Given the description of an element on the screen output the (x, y) to click on. 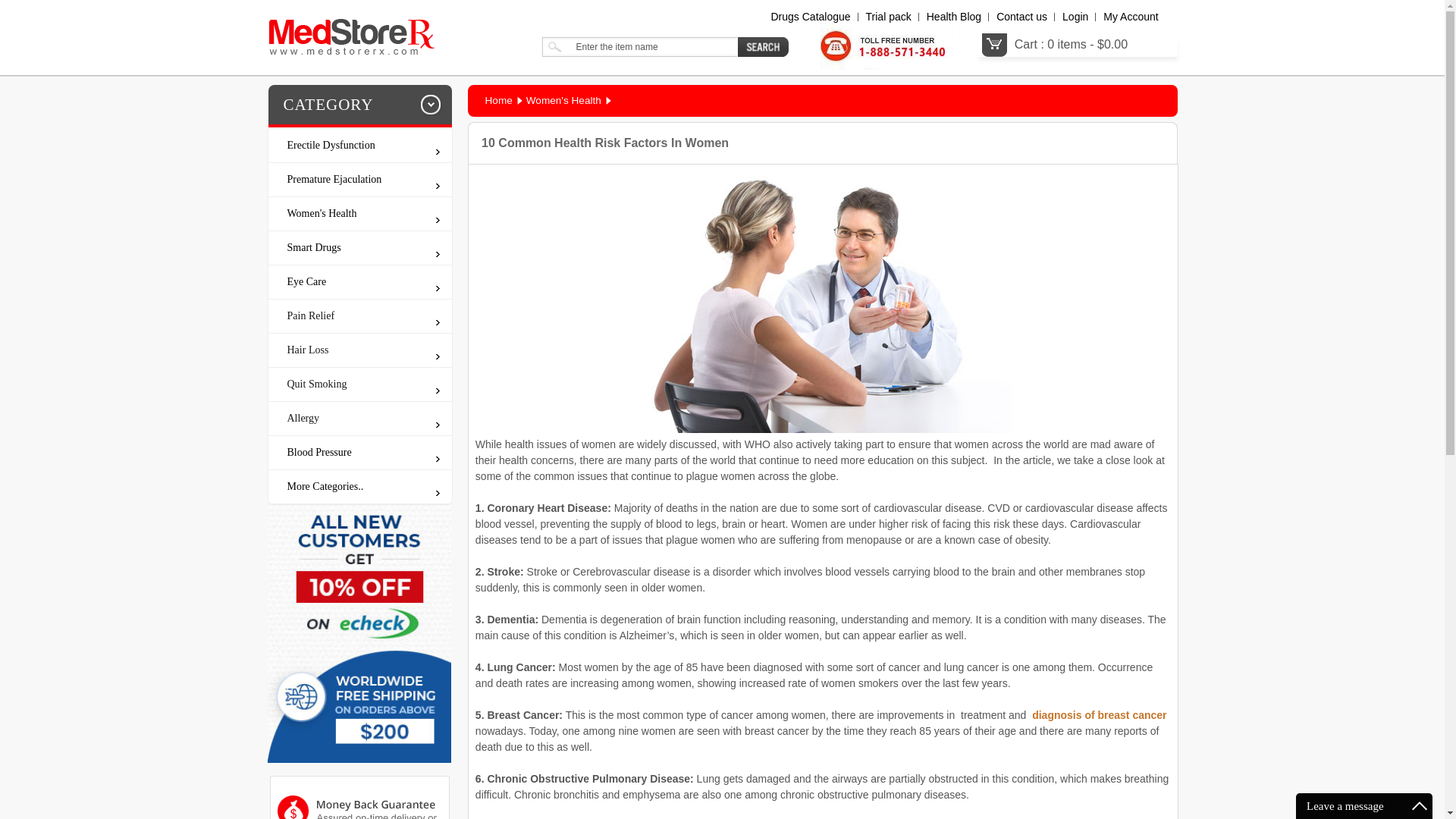
Contact us (1020, 16)
Enter the item name (638, 46)
Login (1074, 16)
Trial pack (888, 16)
Search (763, 46)
My Account (1130, 16)
Health Blog (953, 16)
Drugs Catalogue (810, 16)
